Given the description of an element on the screen output the (x, y) to click on. 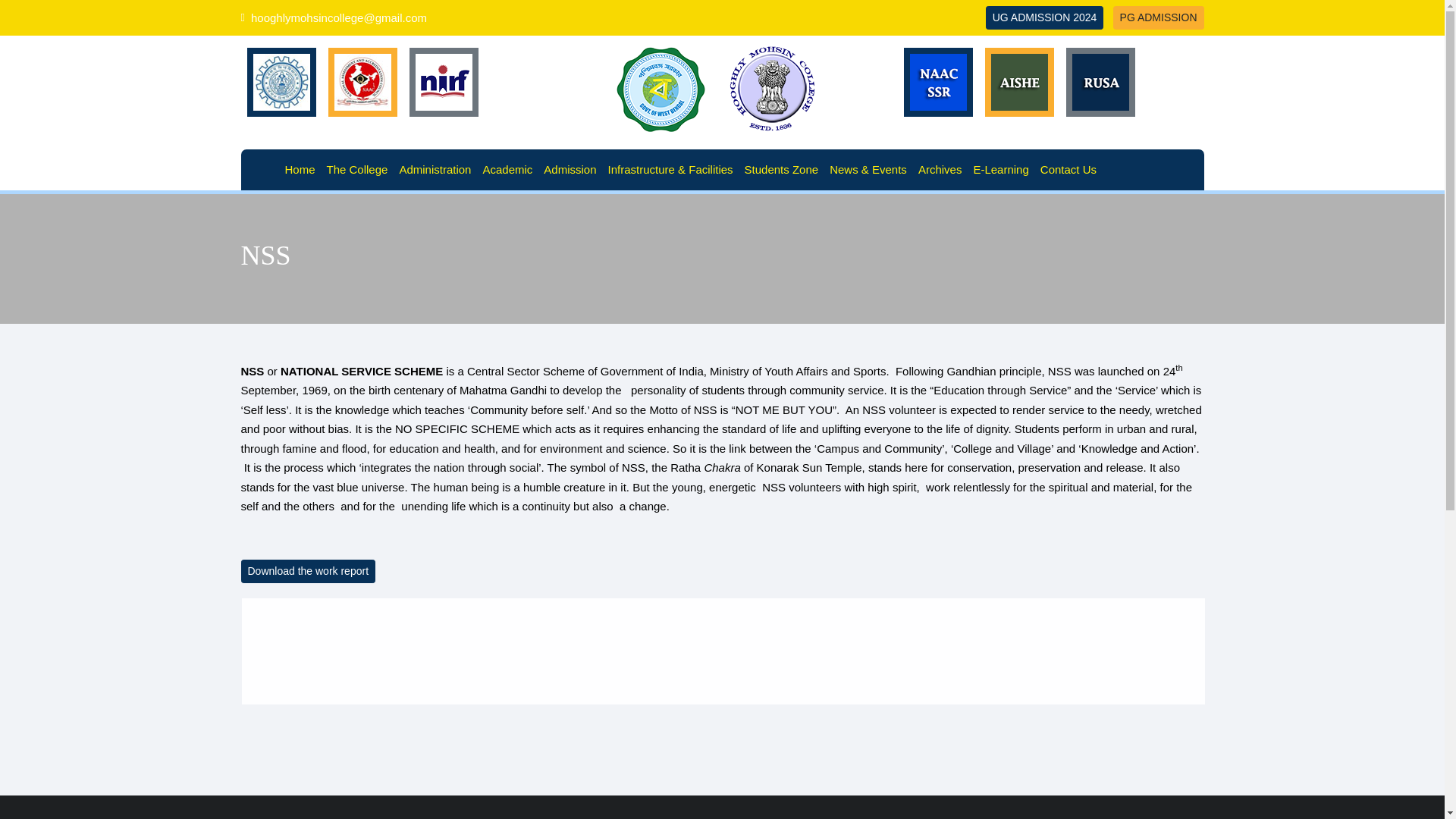
UG ADMISSION 2024 (1044, 17)
Administration (436, 169)
PG ADMISSION (1158, 17)
The College (358, 169)
Admission (571, 169)
Academic (508, 169)
